Given the description of an element on the screen output the (x, y) to click on. 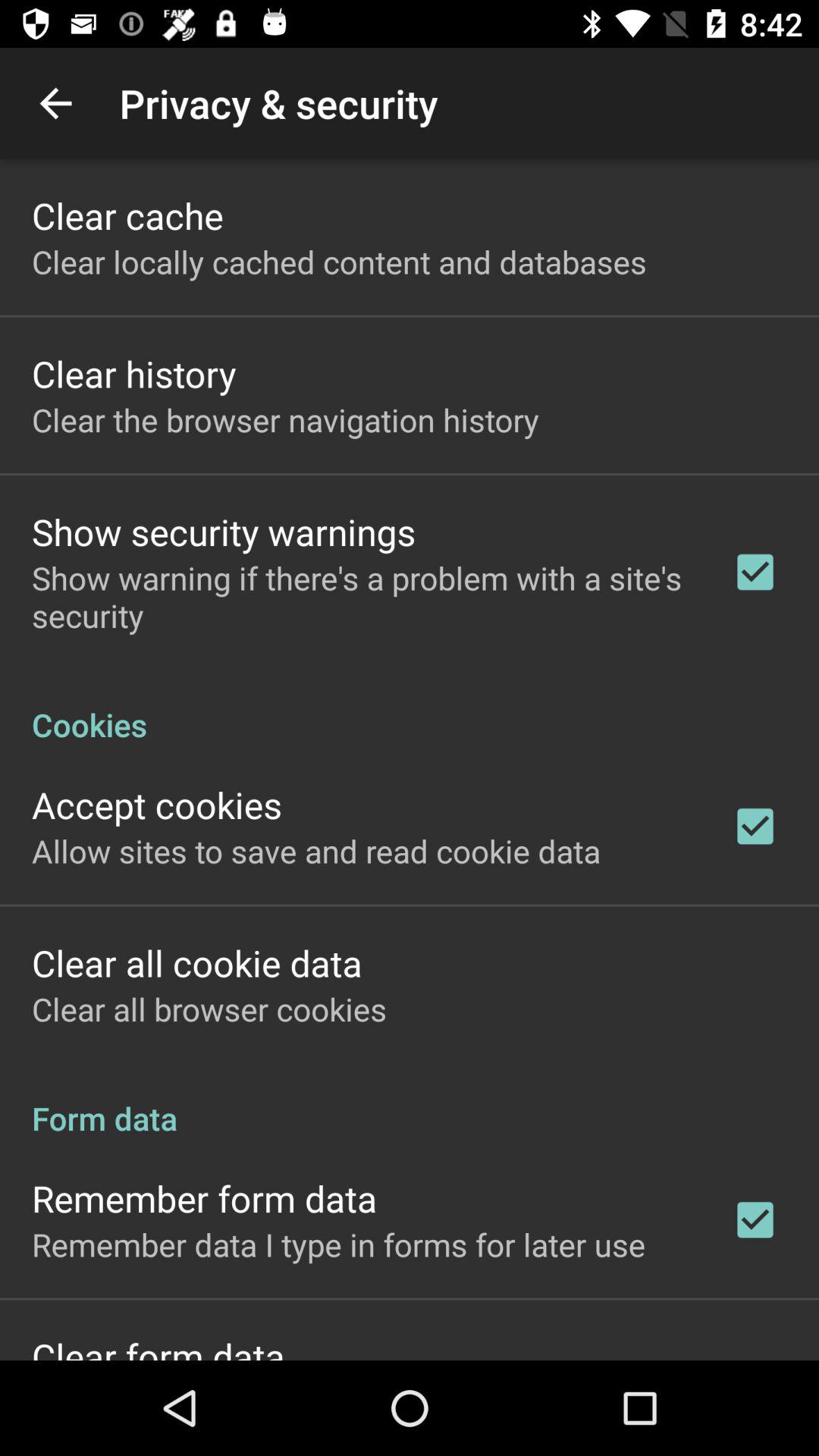
swipe to the show warning if (361, 596)
